Given the description of an element on the screen output the (x, y) to click on. 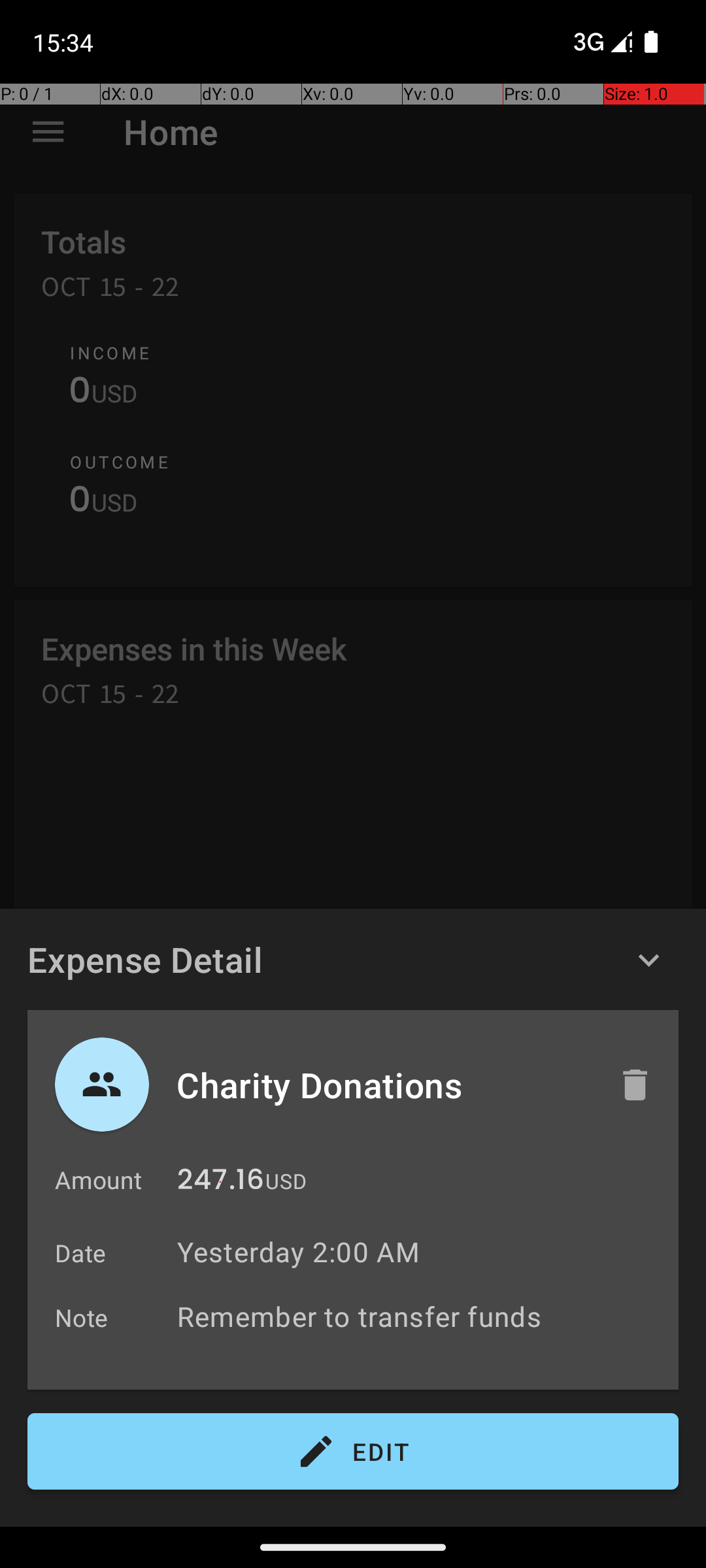
Charity Donations Element type: android.widget.TextView (383, 1084)
247.16 Element type: android.widget.TextView (220, 1182)
Yesterday 2:00 AM Element type: android.widget.TextView (298, 1251)
Remember to transfer funds Element type: android.widget.TextView (420, 1315)
